Given the description of an element on the screen output the (x, y) to click on. 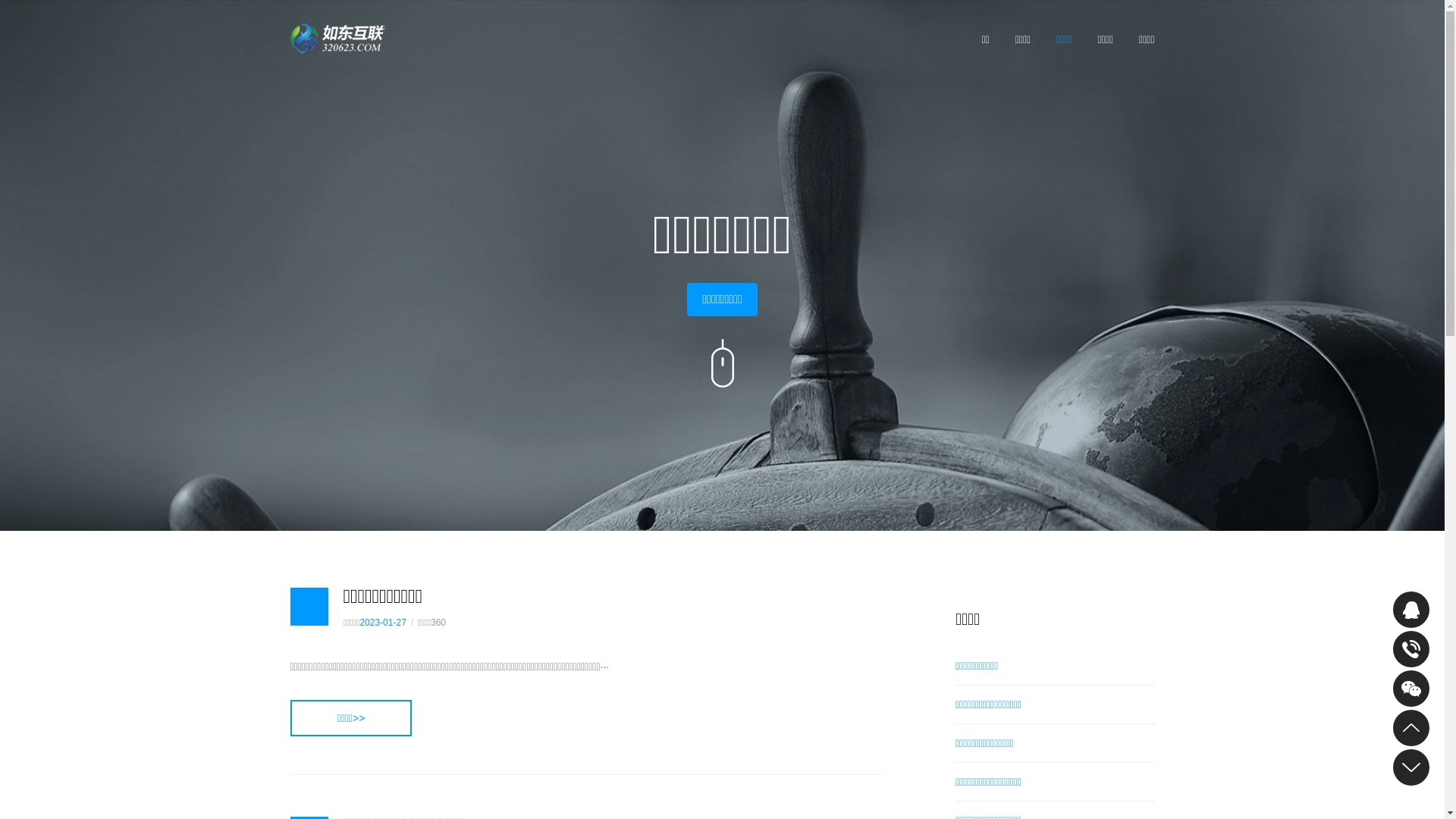
2023-01-27 Element type: text (382, 622)
